Given the description of an element on the screen output the (x, y) to click on. 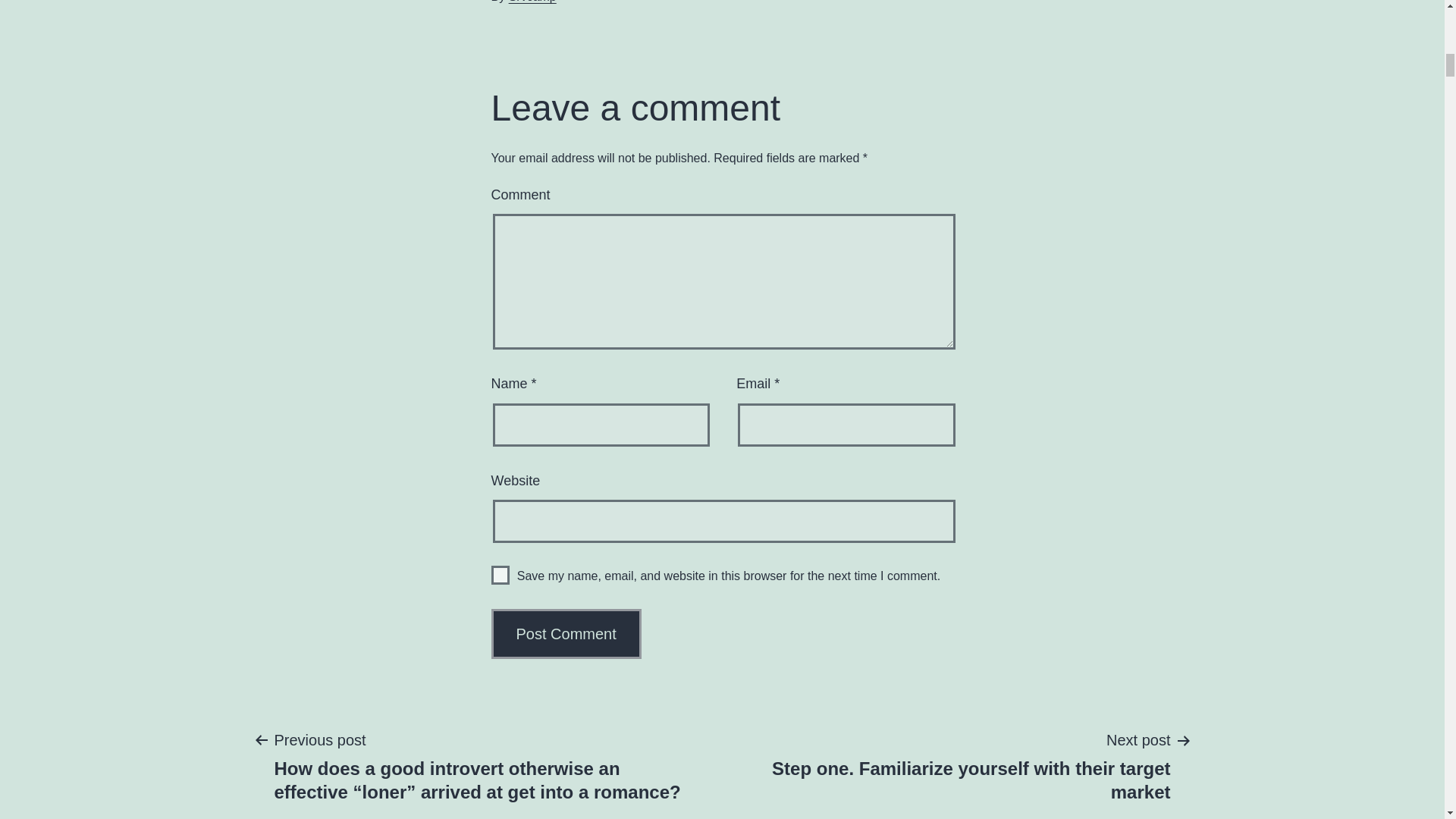
Post Comment (567, 634)
Srvcamp (532, 1)
Post Comment (567, 634)
yes (500, 574)
